Given the description of an element on the screen output the (x, y) to click on. 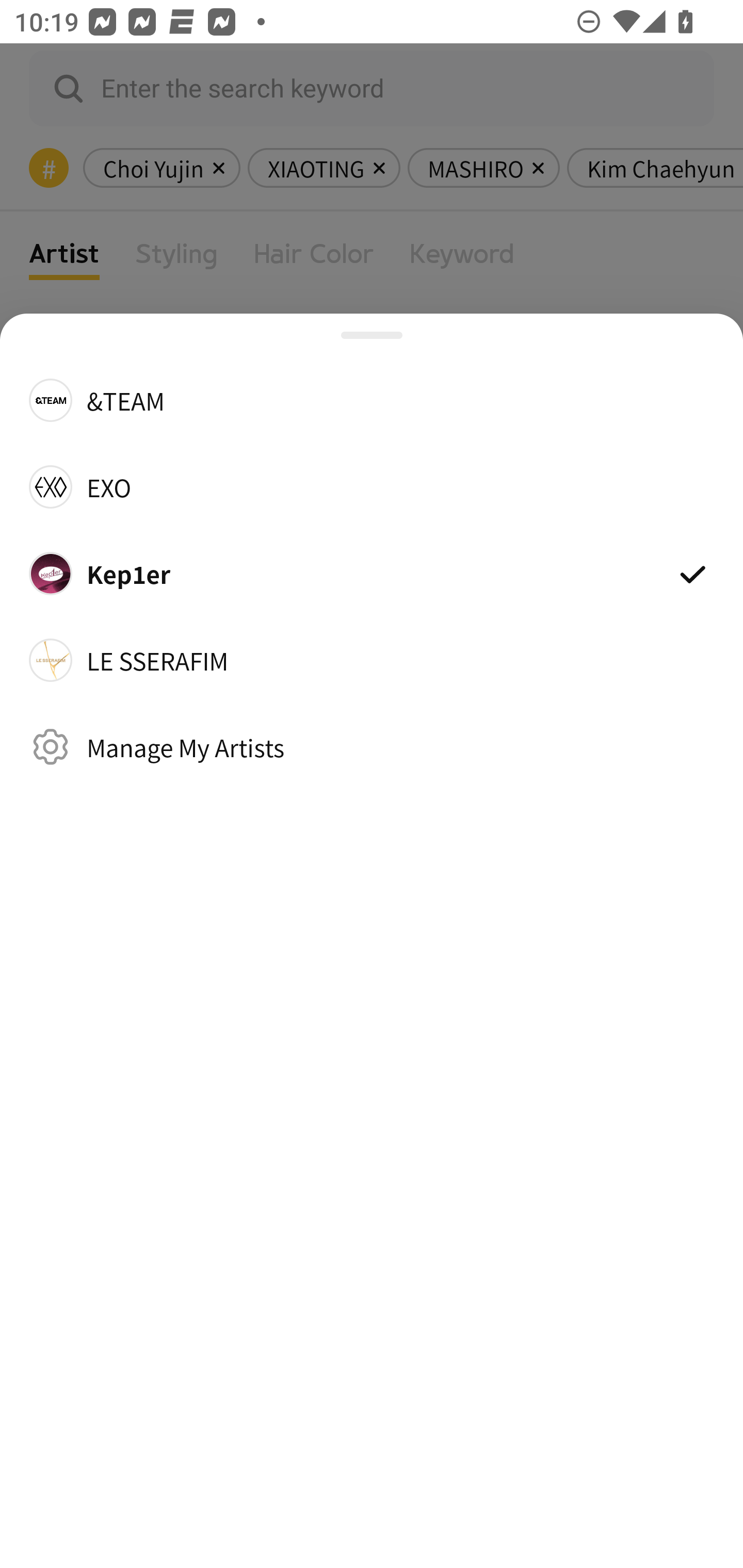
&TEAM (371, 399)
EXO (371, 486)
Kep1er (371, 573)
LE SSERAFIM (371, 660)
Manage My Artists (371, 746)
